Given the description of an element on the screen output the (x, y) to click on. 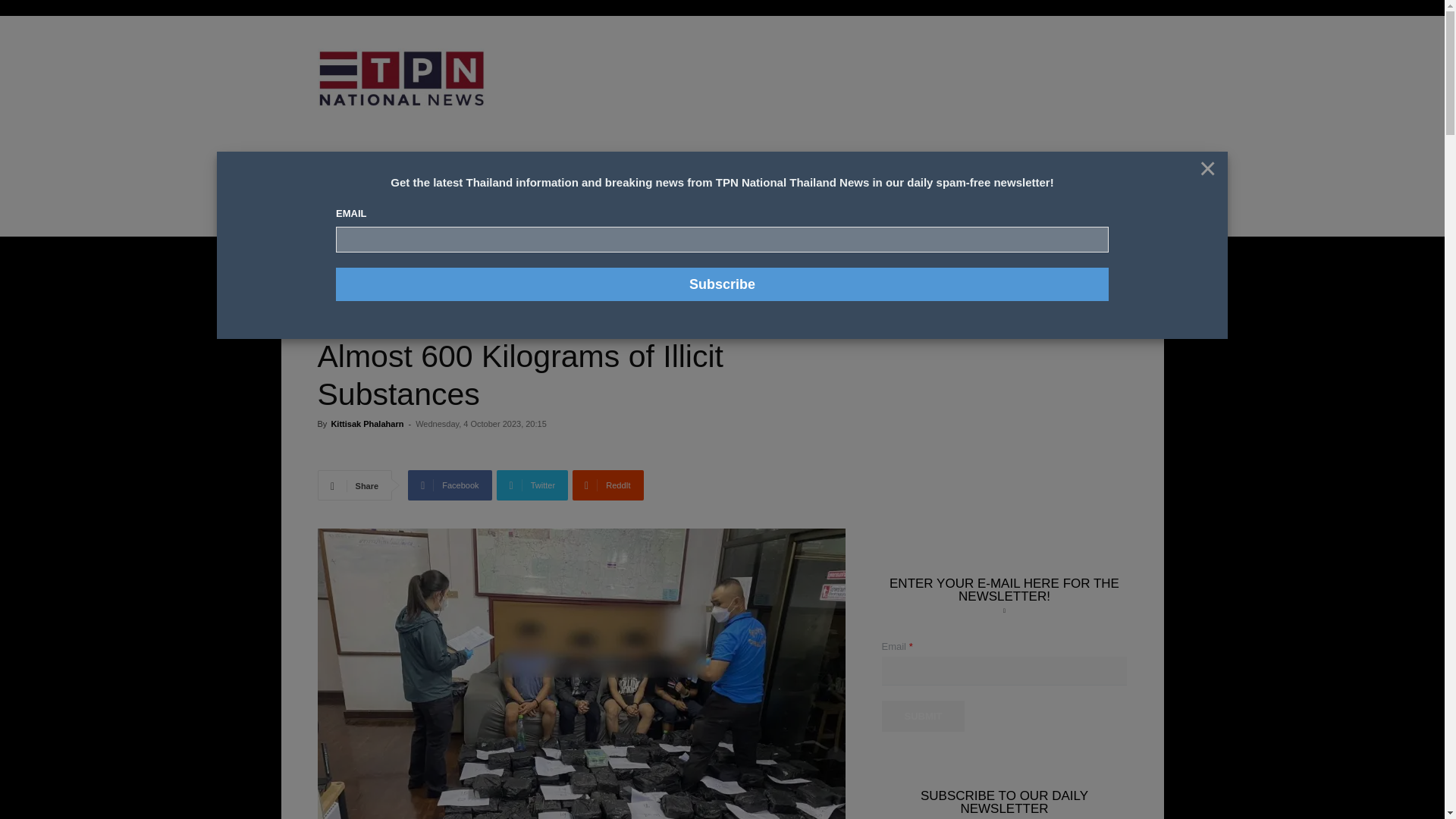
Kittisak Phalaharn (366, 423)
HOME (318, 181)
CRIME (423, 181)
ADVERTISE WITH US (752, 181)
Facebook (449, 485)
Advertisement (846, 95)
NATIONAL (370, 181)
Crime News (381, 259)
WORLD (678, 181)
LIFE (577, 181)
The Pattaya News National, Thailand News (400, 78)
Thailand National News (416, 281)
BUSINESS (529, 181)
Crime News (341, 281)
Search (1099, 287)
